Given the description of an element on the screen output the (x, y) to click on. 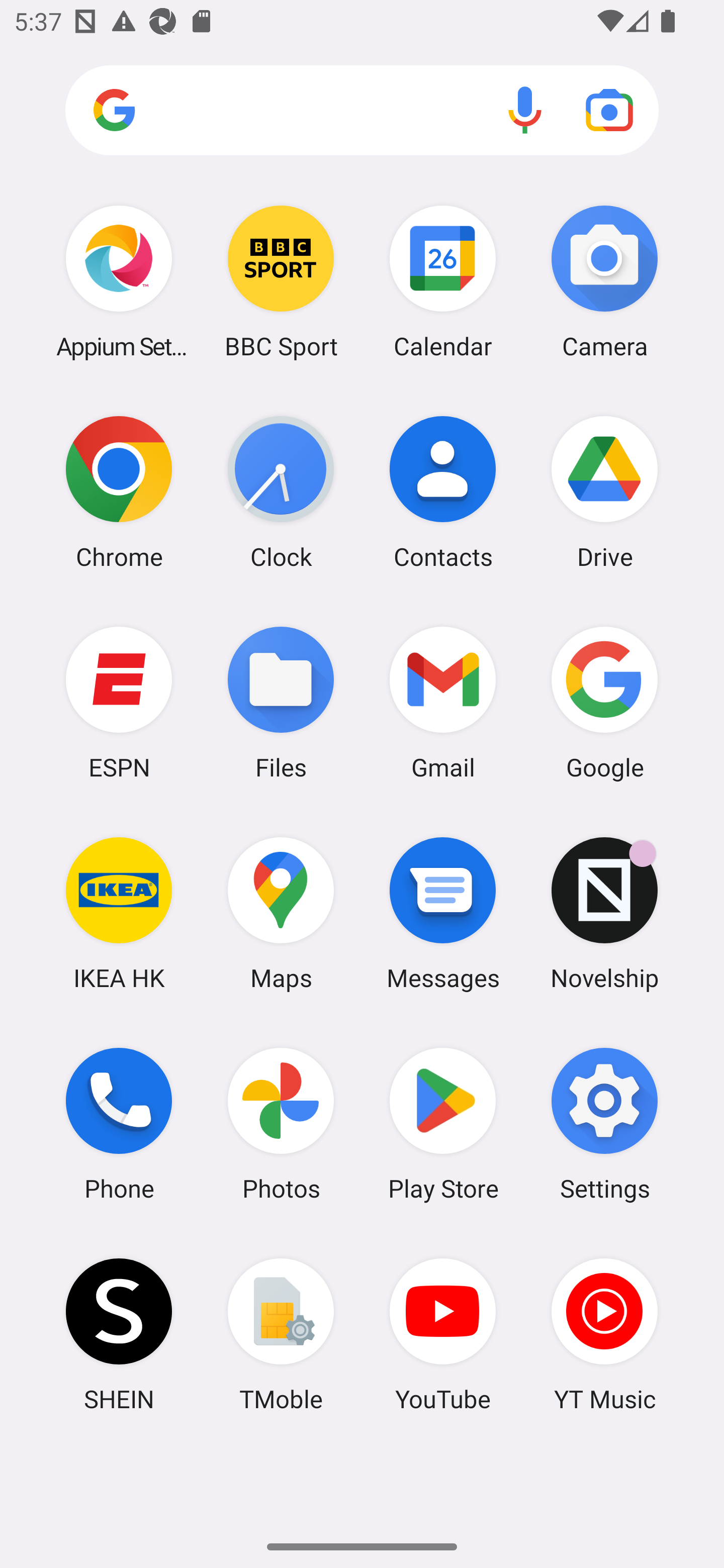
Search apps, web and more (361, 110)
Voice search (524, 109)
Google Lens (608, 109)
Appium Settings (118, 281)
BBC Sport (280, 281)
Calendar (443, 281)
Camera (604, 281)
Chrome (118, 492)
Clock (280, 492)
Contacts (443, 492)
Drive (604, 492)
ESPN (118, 702)
Files (280, 702)
Gmail (443, 702)
Google (604, 702)
IKEA HK (118, 913)
Maps (280, 913)
Messages (443, 913)
Novelship Novelship has 1 notification (604, 913)
Phone (118, 1124)
Photos (280, 1124)
Play Store (443, 1124)
Settings (604, 1124)
SHEIN (118, 1334)
TMoble (280, 1334)
YouTube (443, 1334)
YT Music (604, 1334)
